Given the description of an element on the screen output the (x, y) to click on. 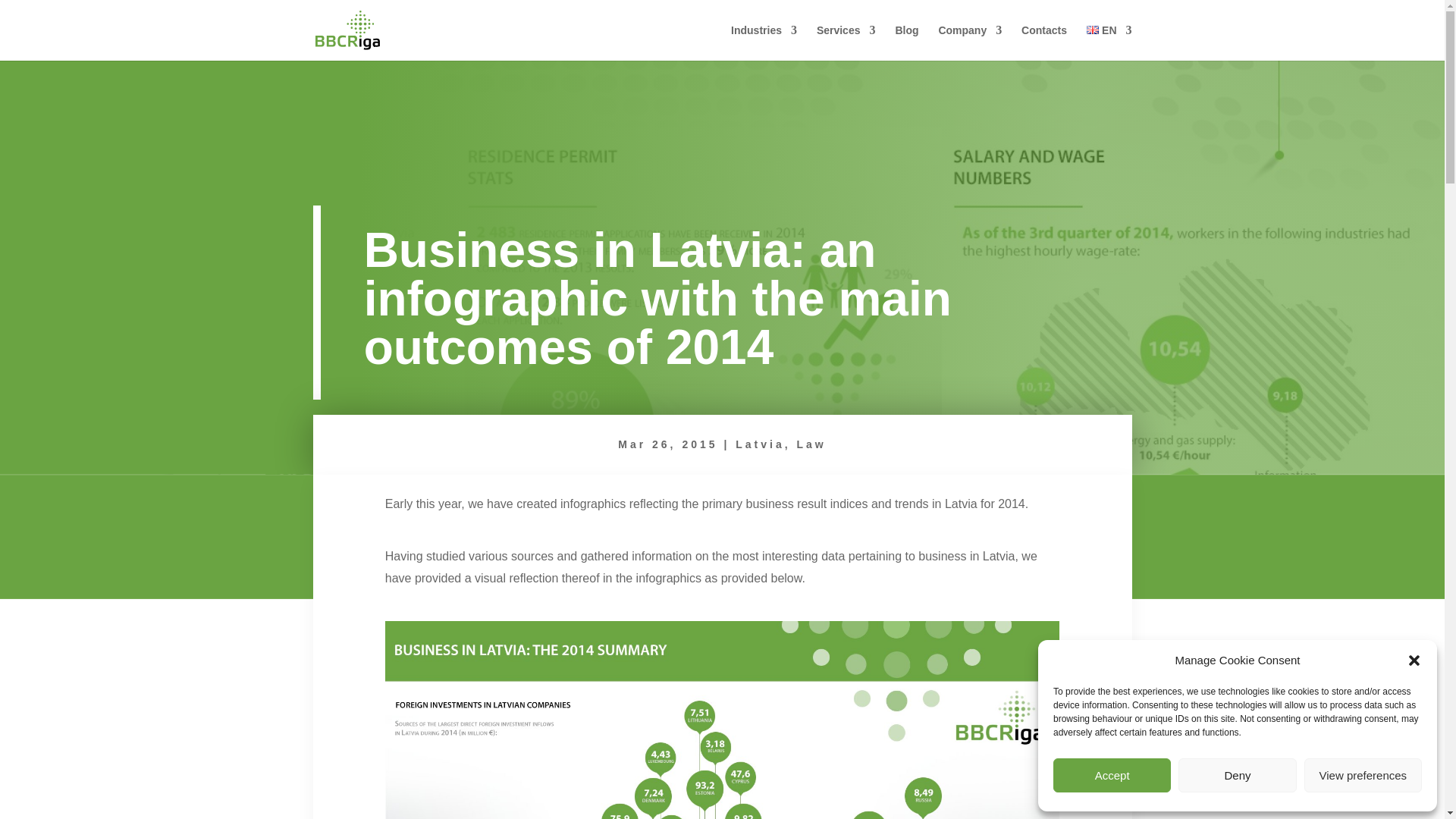
Deny (1236, 775)
Industries (763, 42)
Services (846, 42)
Accept (1111, 775)
View preferences (1363, 775)
